Given the description of an element on the screen output the (x, y) to click on. 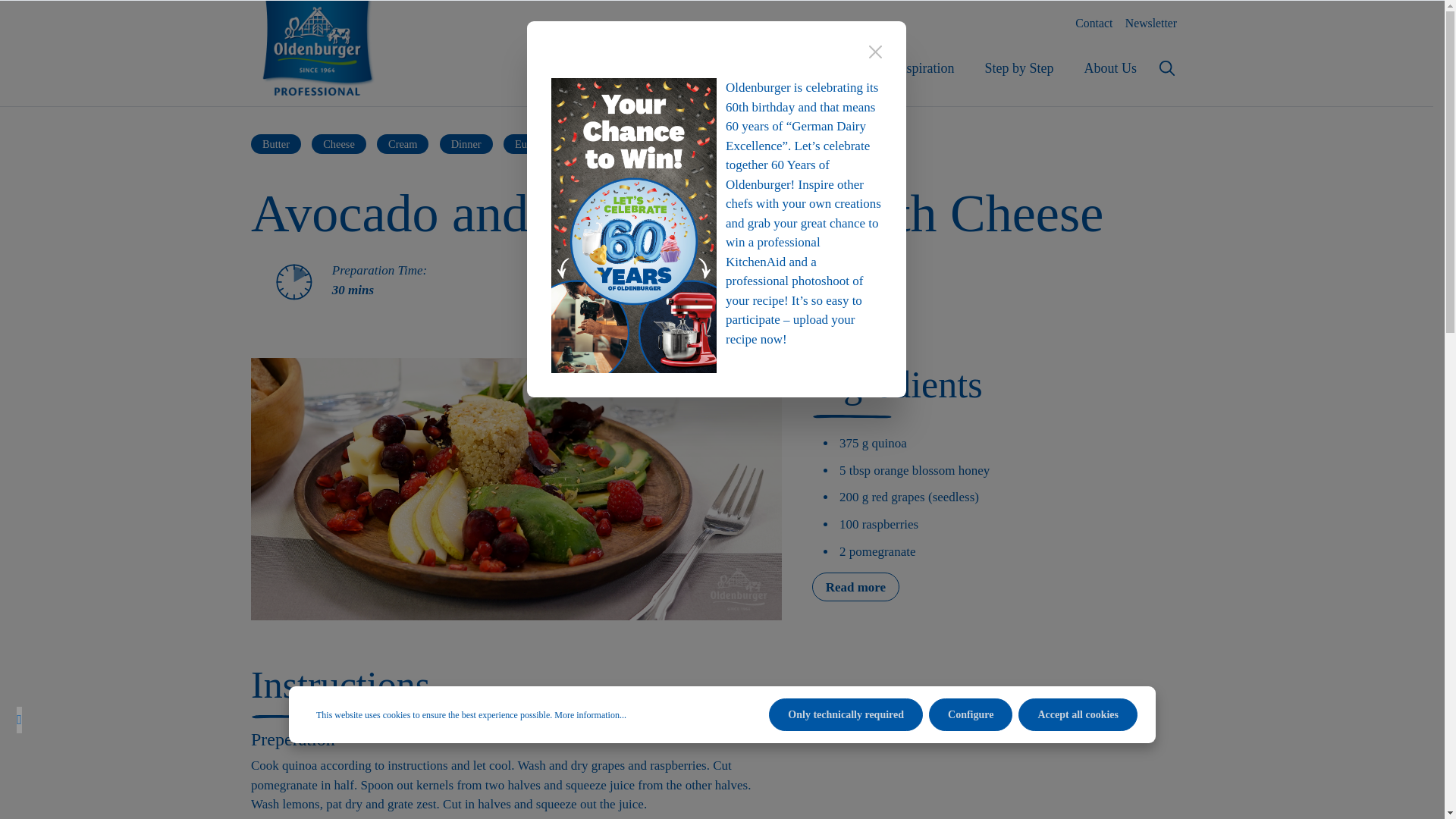
Step by Step (1018, 67)
Contact (1093, 22)
Step by Step (716, 76)
Chef's Inspiration (1018, 67)
About Us (906, 67)
Go to homepage (1109, 67)
Butter (317, 47)
About Us (275, 143)
